Given the description of an element on the screen output the (x, y) to click on. 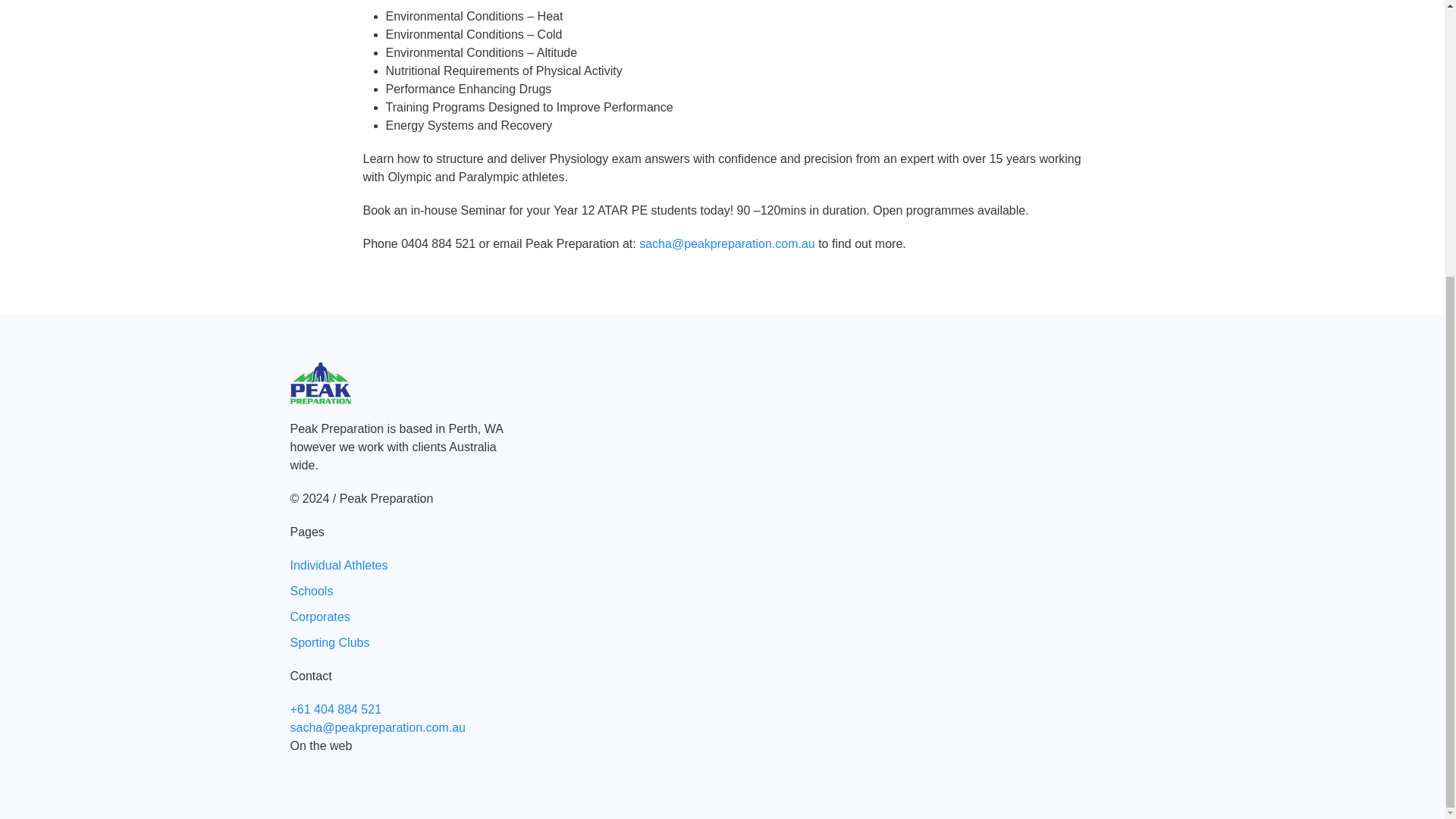
Schools (311, 590)
Individual Athletes (338, 564)
Corporates (319, 616)
Sporting Clubs (329, 642)
